Given the description of an element on the screen output the (x, y) to click on. 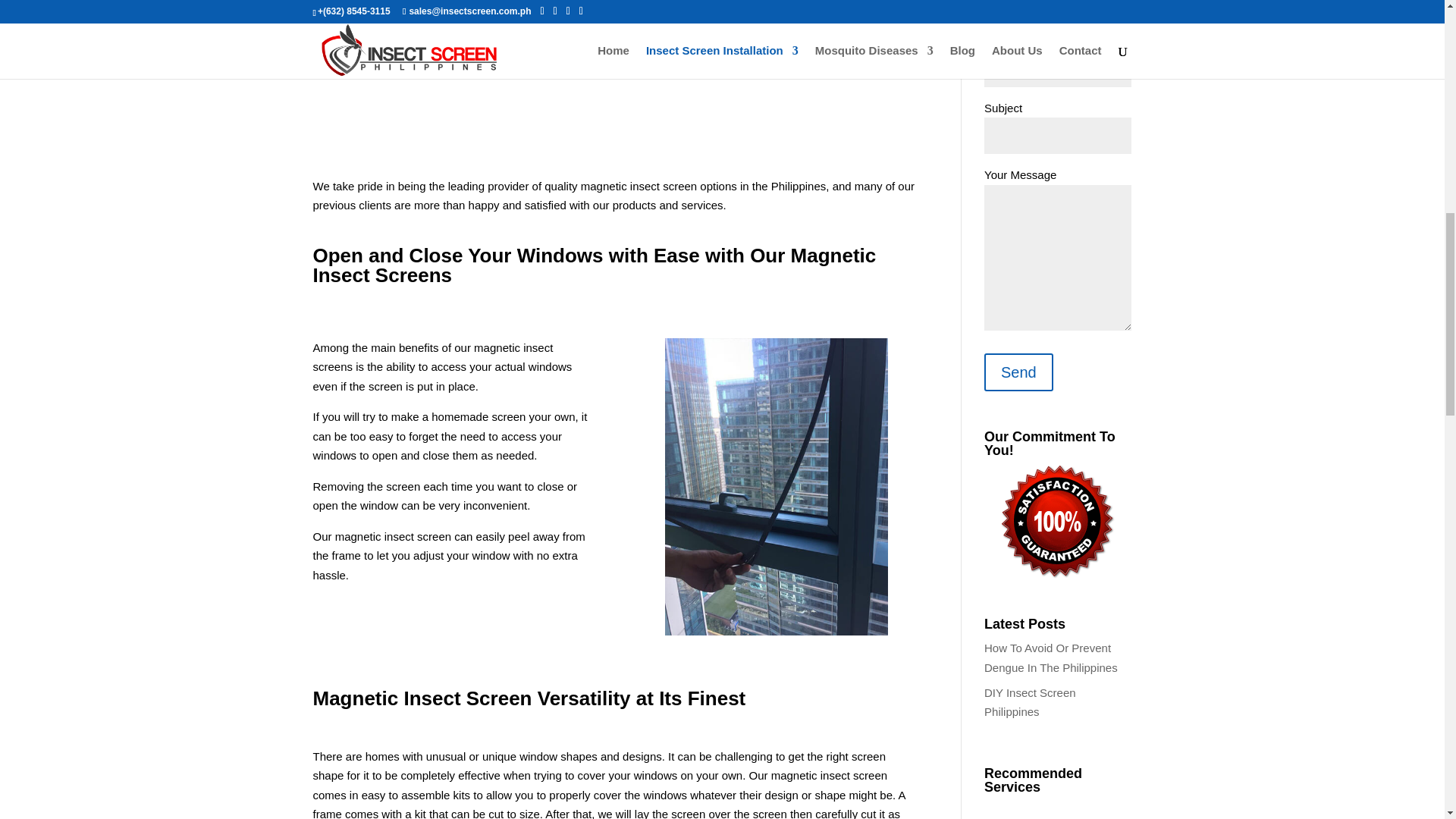
DIY Insect Screen Philippines (1029, 702)
How To Avoid Or Prevent Dengue In The Philippines (1051, 657)
Send (1018, 371)
Send (1018, 371)
Magnetic Insect Screen Singapore (776, 65)
